Given the description of an element on the screen output the (x, y) to click on. 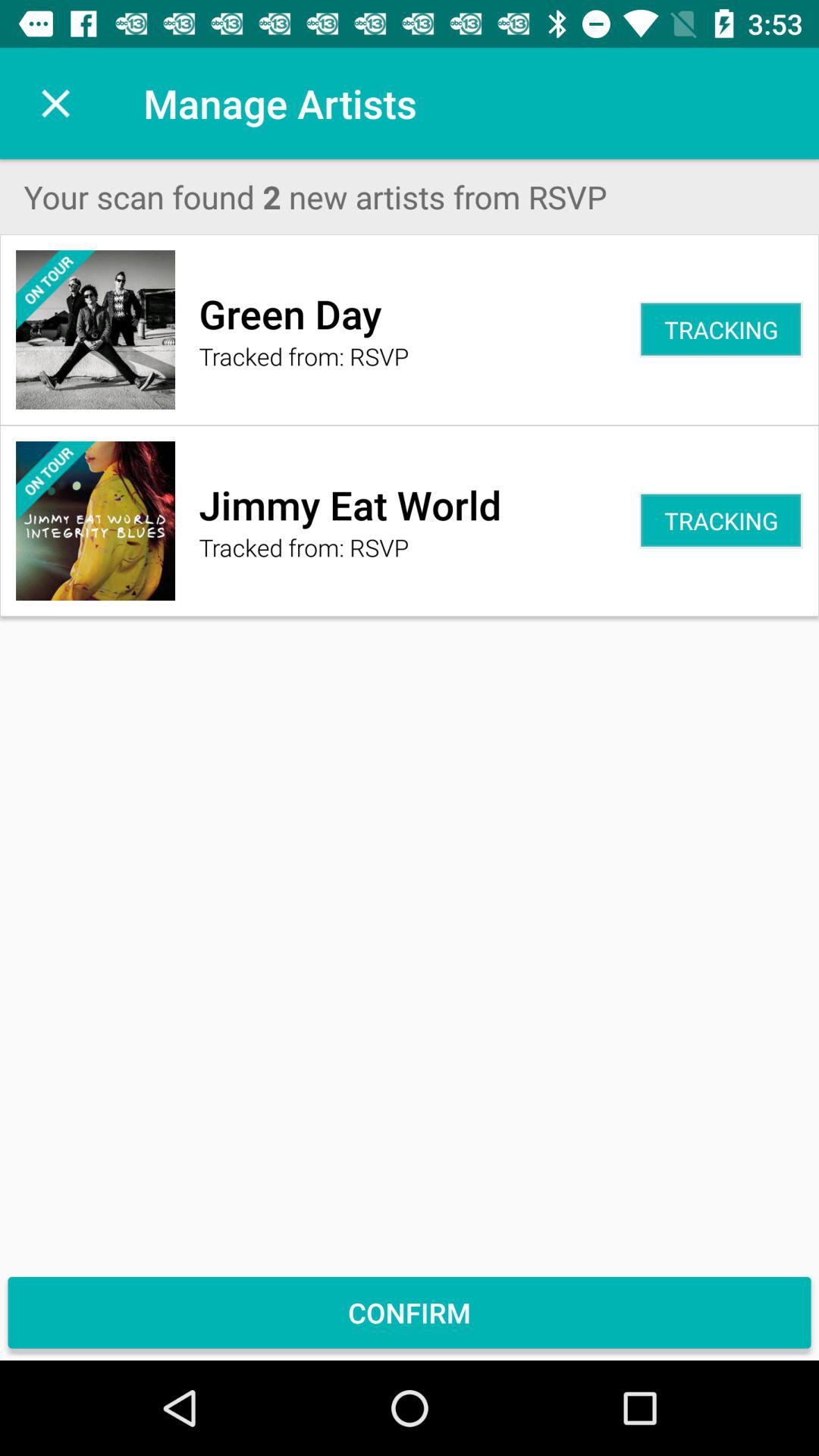
turn on the item to the left of manage artists (55, 103)
